Given the description of an element on the screen output the (x, y) to click on. 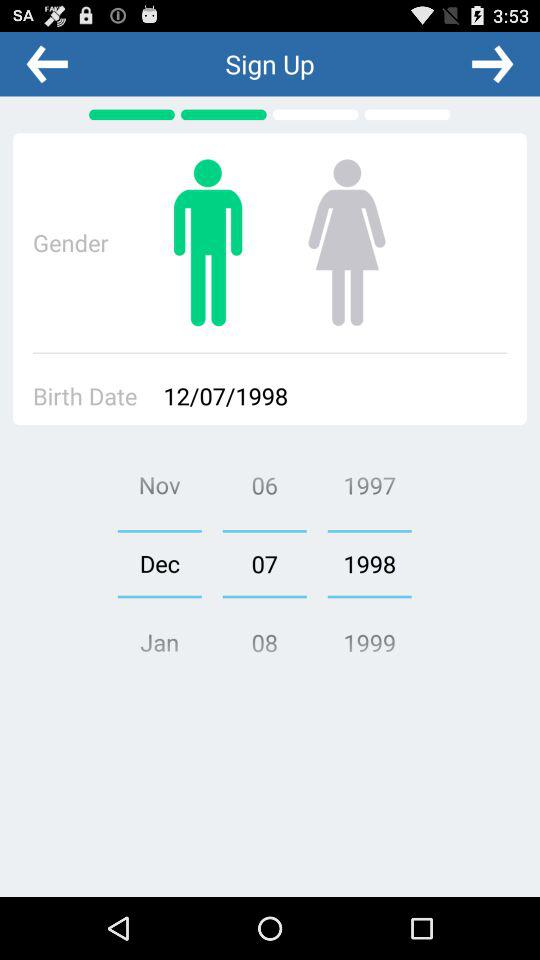
click on the first green bar above the text gender (131, 114)
click on the first white bar below the text sign up (315, 114)
select the text under 1997 (369, 563)
click on the second image right to the text gender (346, 242)
